Given the description of an element on the screen output the (x, y) to click on. 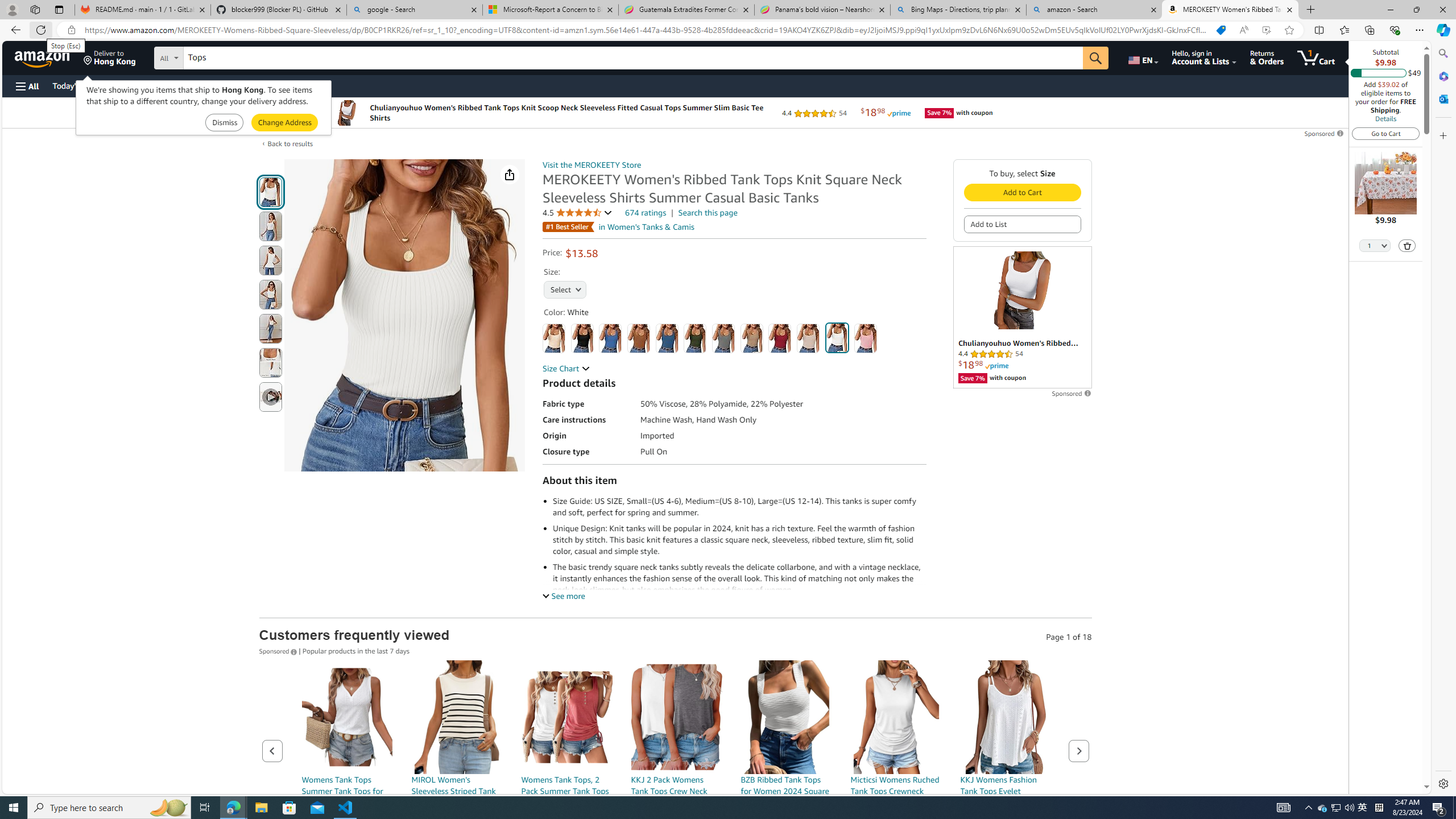
Back to results (290, 144)
Red (779, 338)
Choose a language for shopping. (1142, 57)
Submit (284, 122)
Open Menu (26, 86)
1 item in cart (1315, 57)
